Given the description of an element on the screen output the (x, y) to click on. 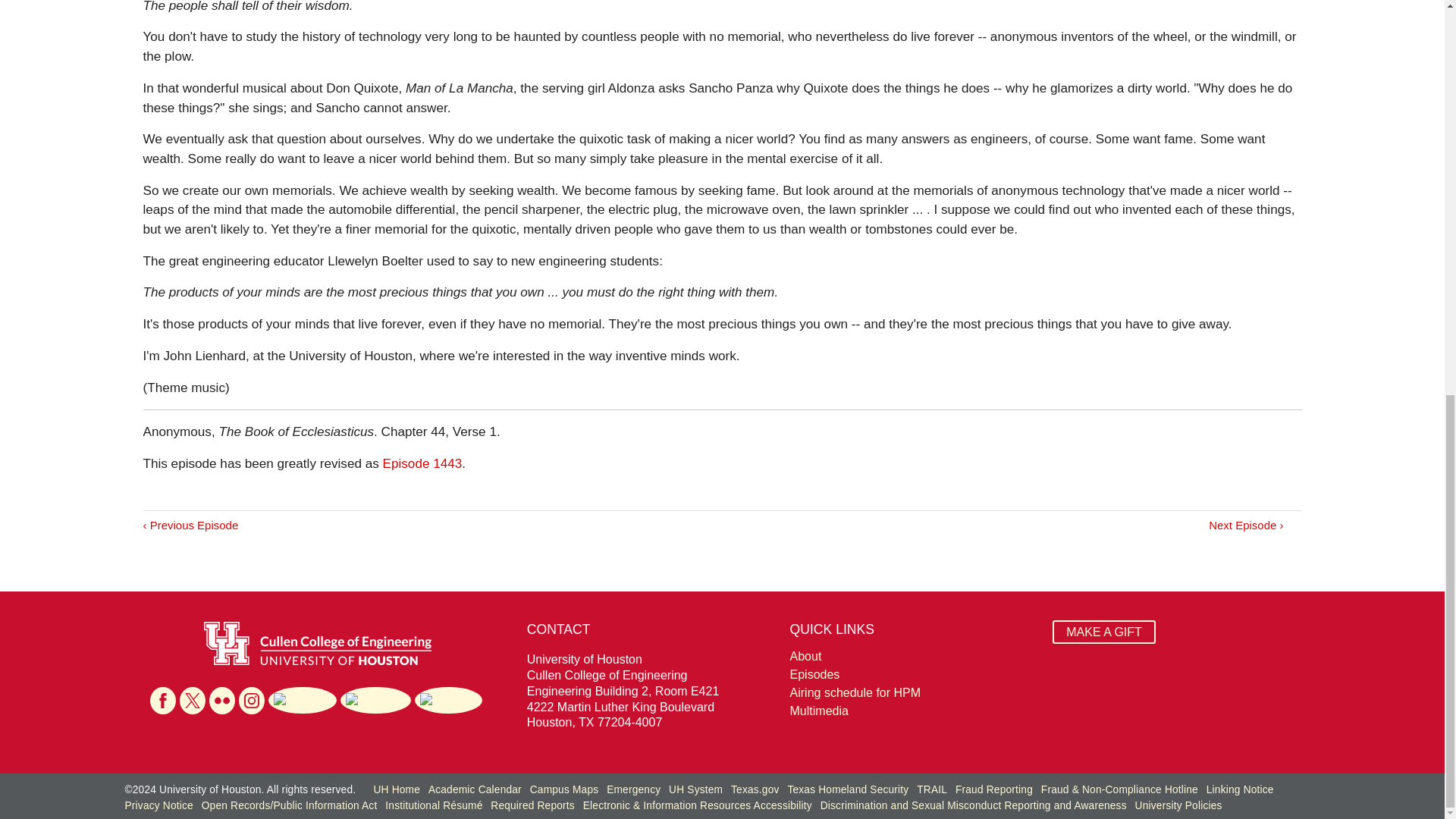
Episodes (913, 674)
Campus Maps (563, 789)
About (913, 656)
UH Home (396, 789)
Academic Calendar (474, 789)
Multimedia (913, 710)
Airing schedule for HPM (913, 692)
Episode 1443 (422, 462)
